Given the description of an element on the screen output the (x, y) to click on. 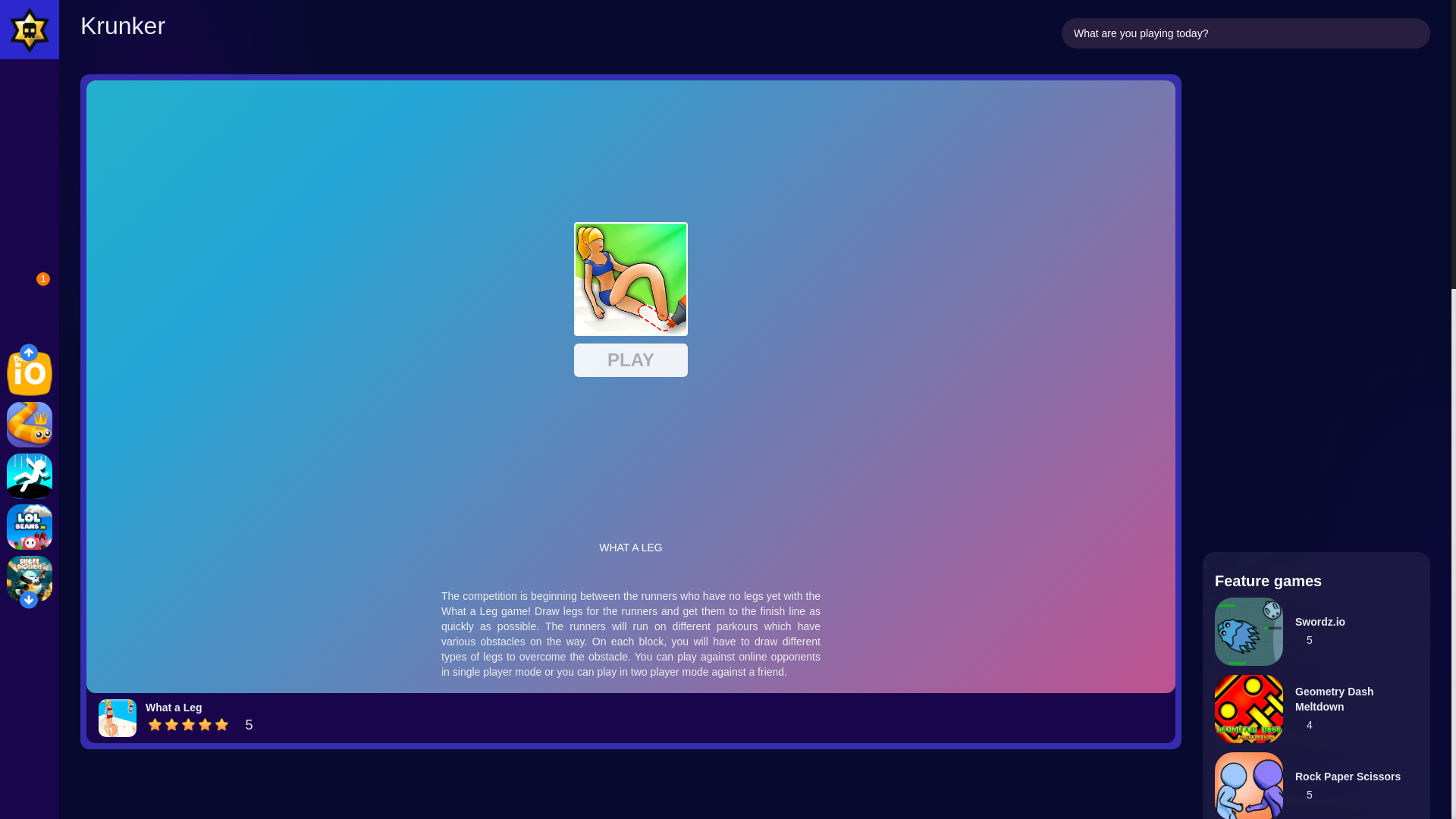
Advertisement (631, 793)
Hole.io (29, 475)
bad (154, 725)
poor (172, 725)
regular (188, 725)
Snake.io (29, 424)
What a Leg (173, 707)
1 (25, 294)
Shell Shockers (29, 578)
LOLBeans.io (29, 526)
IO Games (29, 373)
good (205, 725)
gorgeous (221, 725)
